Given the description of an element on the screen output the (x, y) to click on. 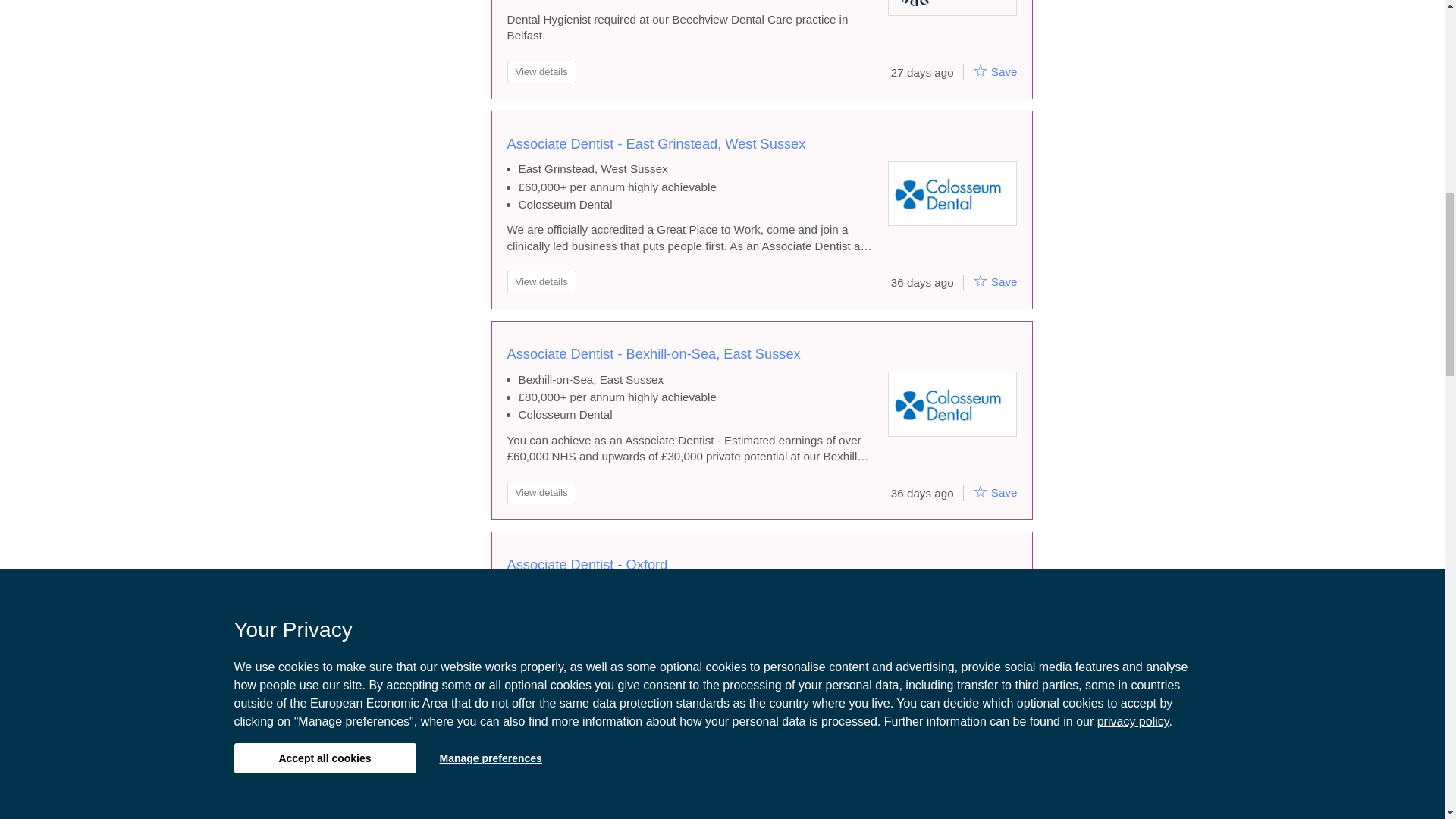
Add to shortlist (980, 280)
Add to shortlist (980, 70)
Add to shortlist (980, 491)
Add to shortlist (980, 701)
